Given the description of an element on the screen output the (x, y) to click on. 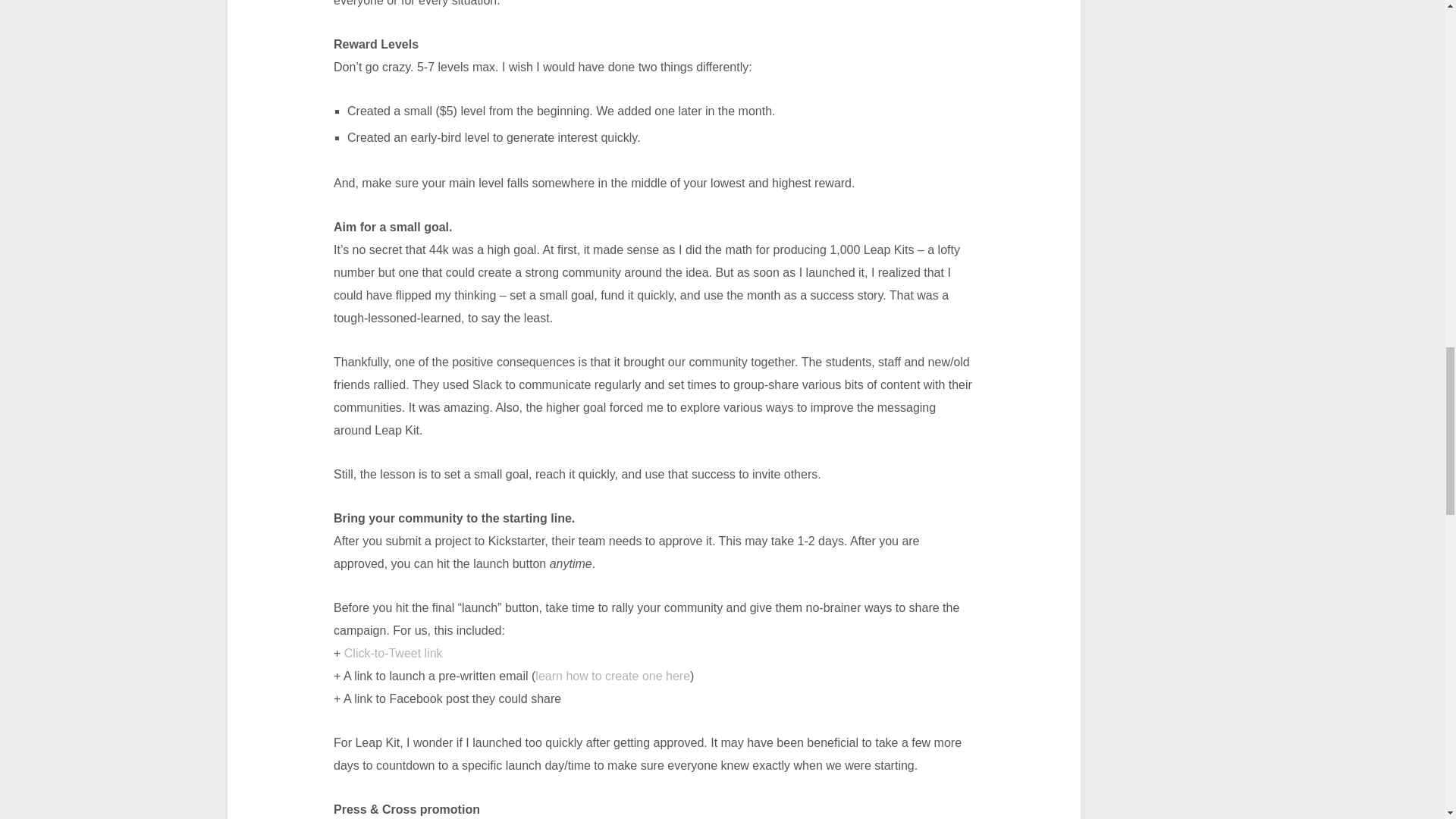
Click-to-Tweet link (392, 653)
learn how to create one here (612, 675)
